Given the description of an element on the screen output the (x, y) to click on. 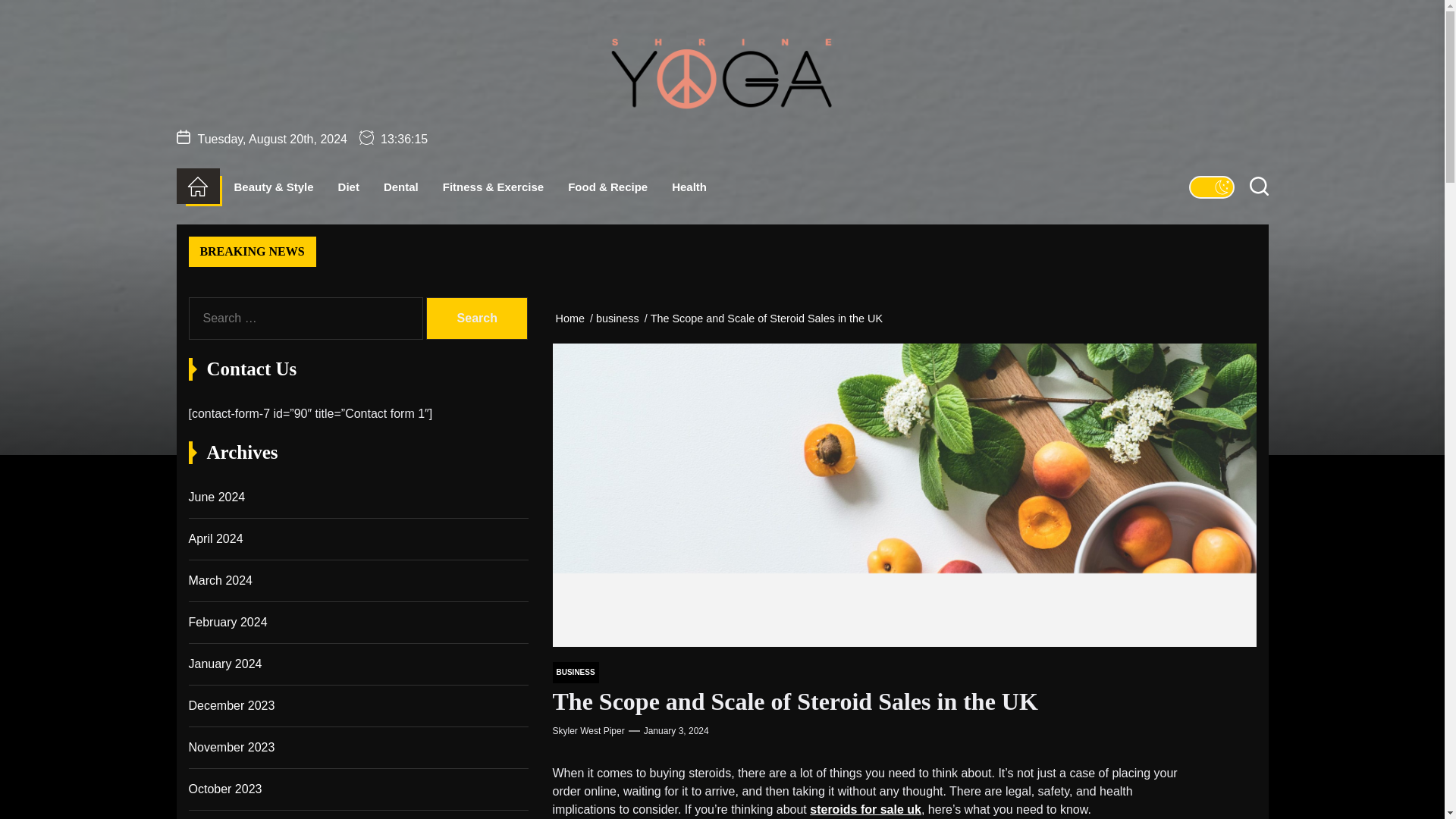
Home (571, 318)
Diet (348, 187)
Search (476, 318)
The Scope and Scale of Steroid Sales in the UK (769, 318)
Dental (401, 187)
Skyler West Piper (587, 730)
Health (688, 187)
Search (476, 318)
SHRINE YOGA (746, 134)
BUSINESS (574, 672)
